Given the description of an element on the screen output the (x, y) to click on. 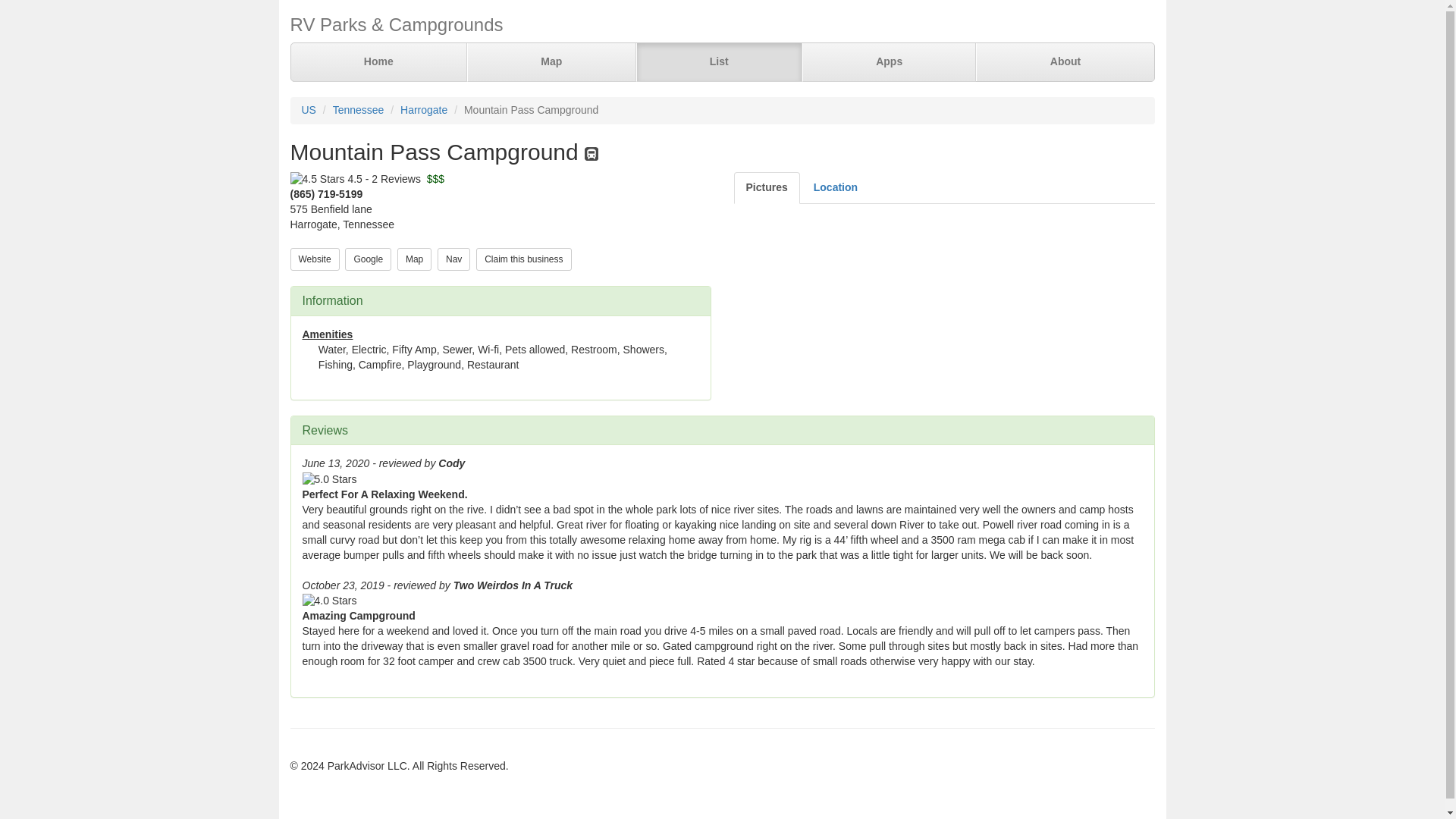
Website (314, 258)
Harrogate (423, 110)
Map (413, 259)
Nav (454, 258)
Claim this business (523, 258)
Google (368, 259)
Claim this business (523, 259)
Location (835, 187)
Map (551, 62)
Tennessee (358, 110)
Apps (889, 62)
About (1064, 62)
Pictures (766, 187)
US (308, 110)
Google (368, 258)
